Given the description of an element on the screen output the (x, y) to click on. 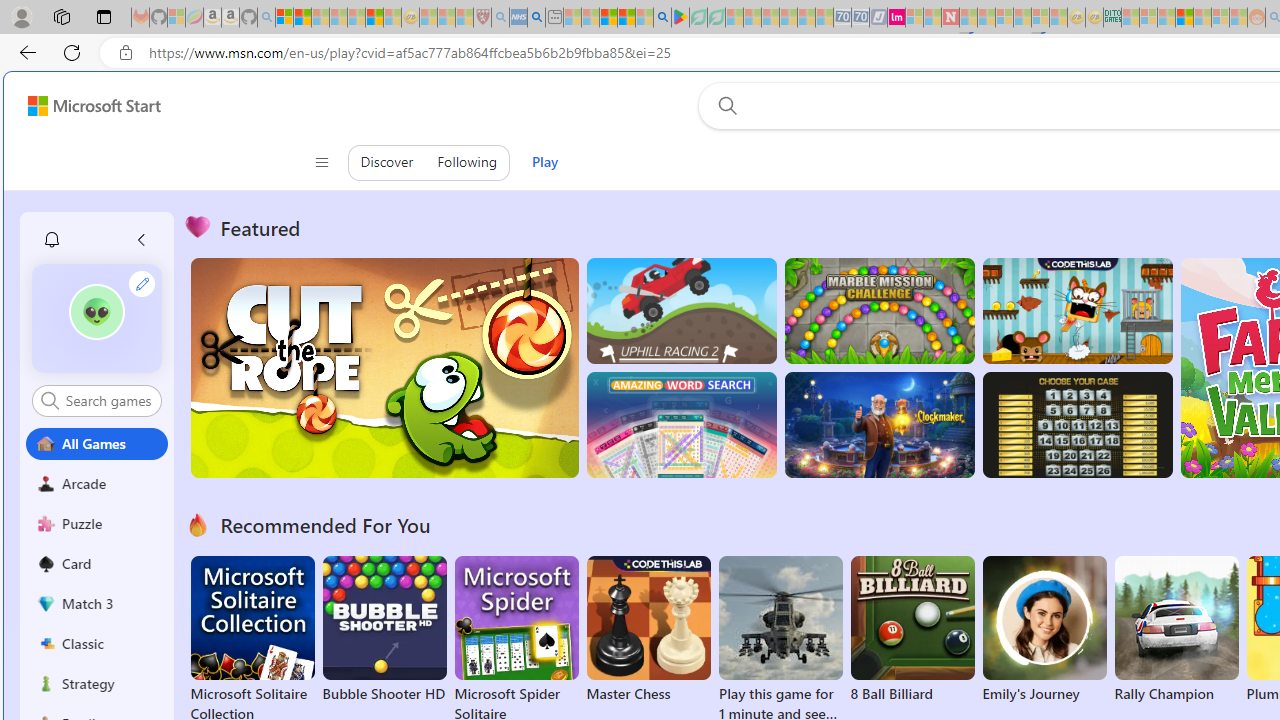
Local - MSN - Sleeping (464, 17)
Master Chess (648, 629)
Expert Portfolios (1184, 17)
Clockmaker (879, 425)
